Given the description of an element on the screen output the (x, y) to click on. 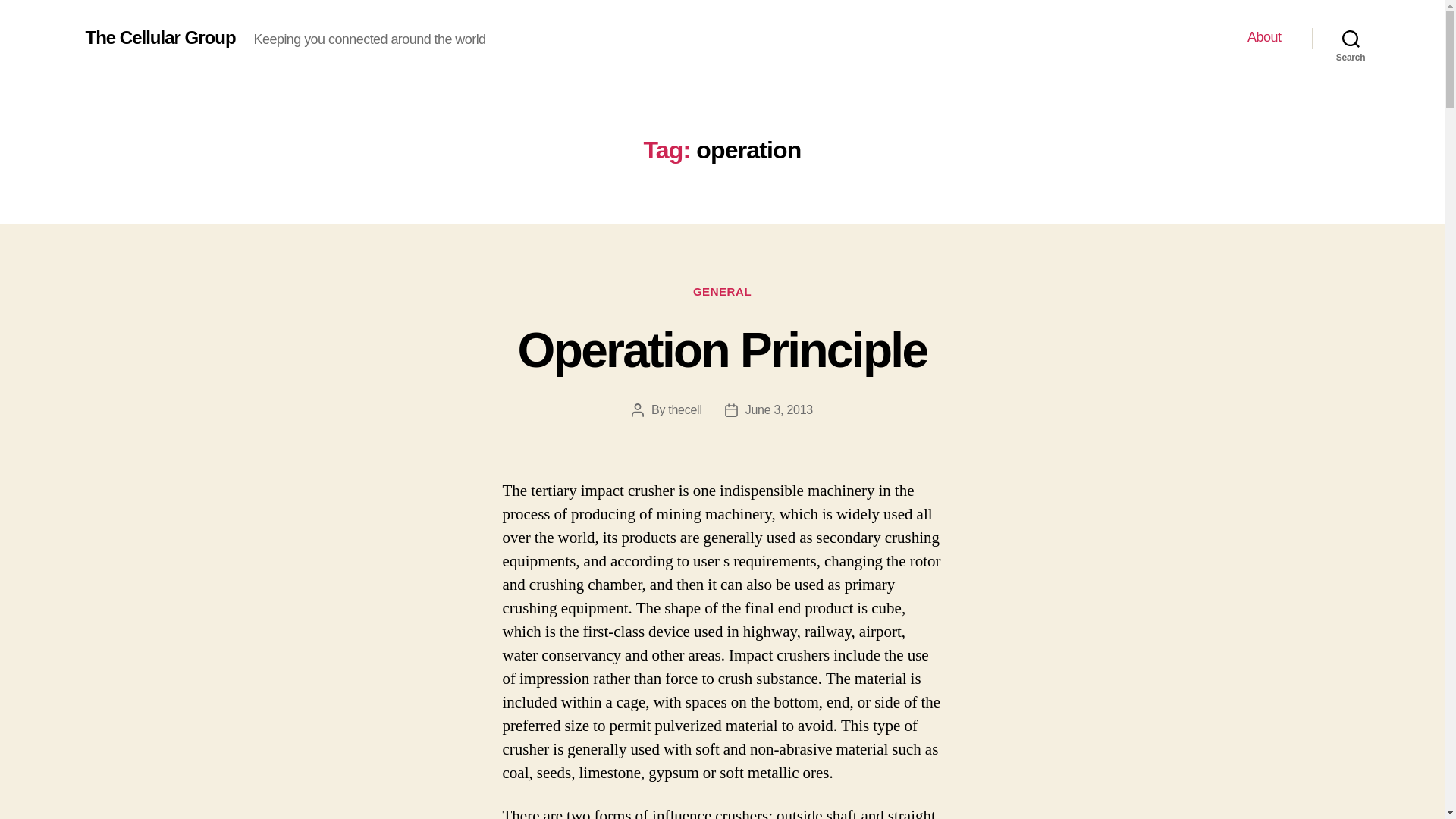
The Cellular Group (159, 37)
Operation Principle (722, 349)
thecell (684, 409)
About (1264, 37)
June 3, 2013 (778, 409)
Search (1350, 37)
GENERAL (722, 292)
